Given the description of an element on the screen output the (x, y) to click on. 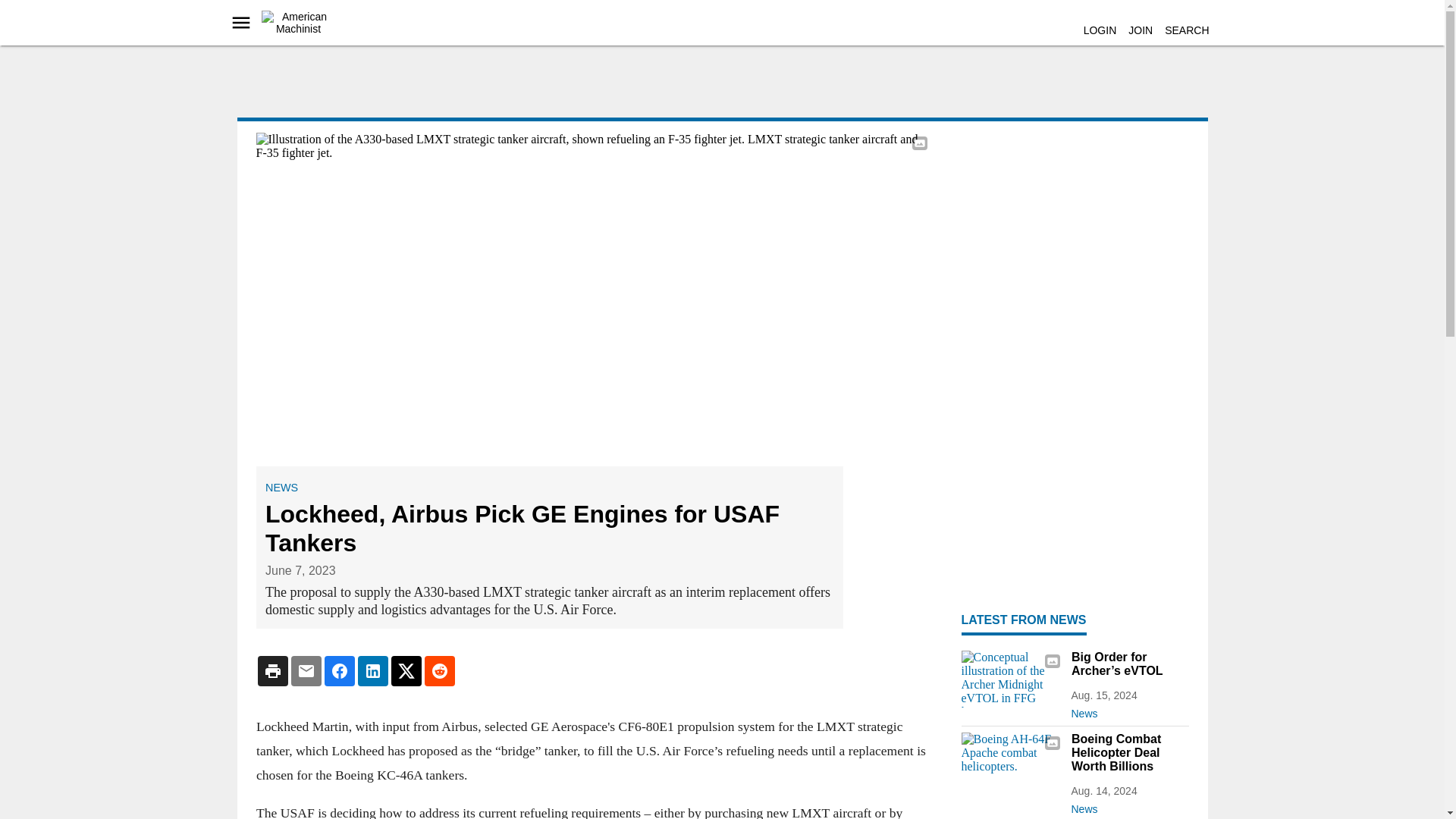
News (1129, 805)
News (1129, 710)
Boeing Combat Helicopter Deal Worth Billions (1129, 752)
SEARCH (1186, 30)
NEWS (281, 487)
Boeing AH-64E Apache combat helicopters. (1012, 760)
LOGIN (1099, 30)
JOIN (1140, 30)
